Given the description of an element on the screen output the (x, y) to click on. 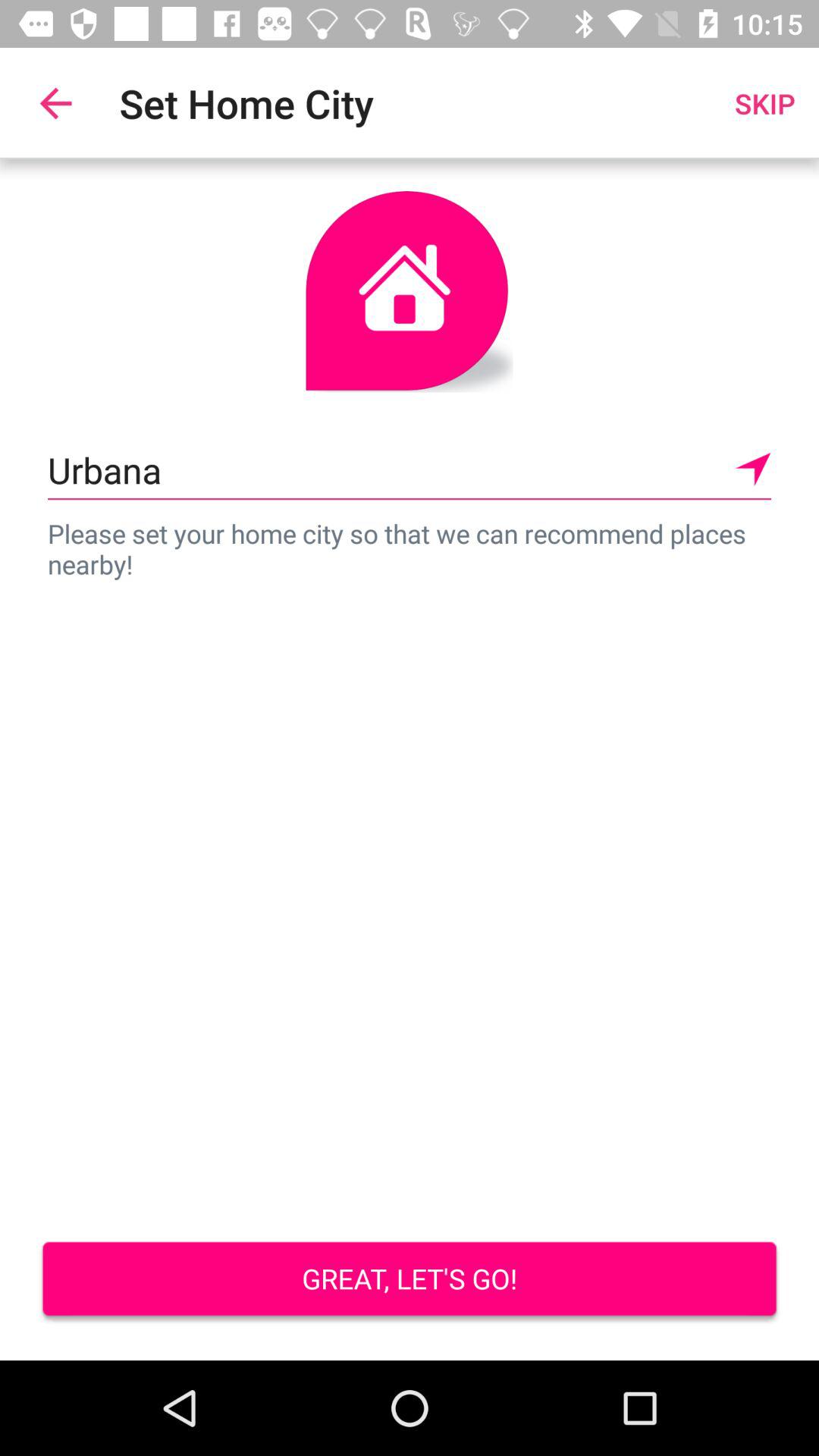
launch item below the please set your item (409, 1280)
